Given the description of an element on the screen output the (x, y) to click on. 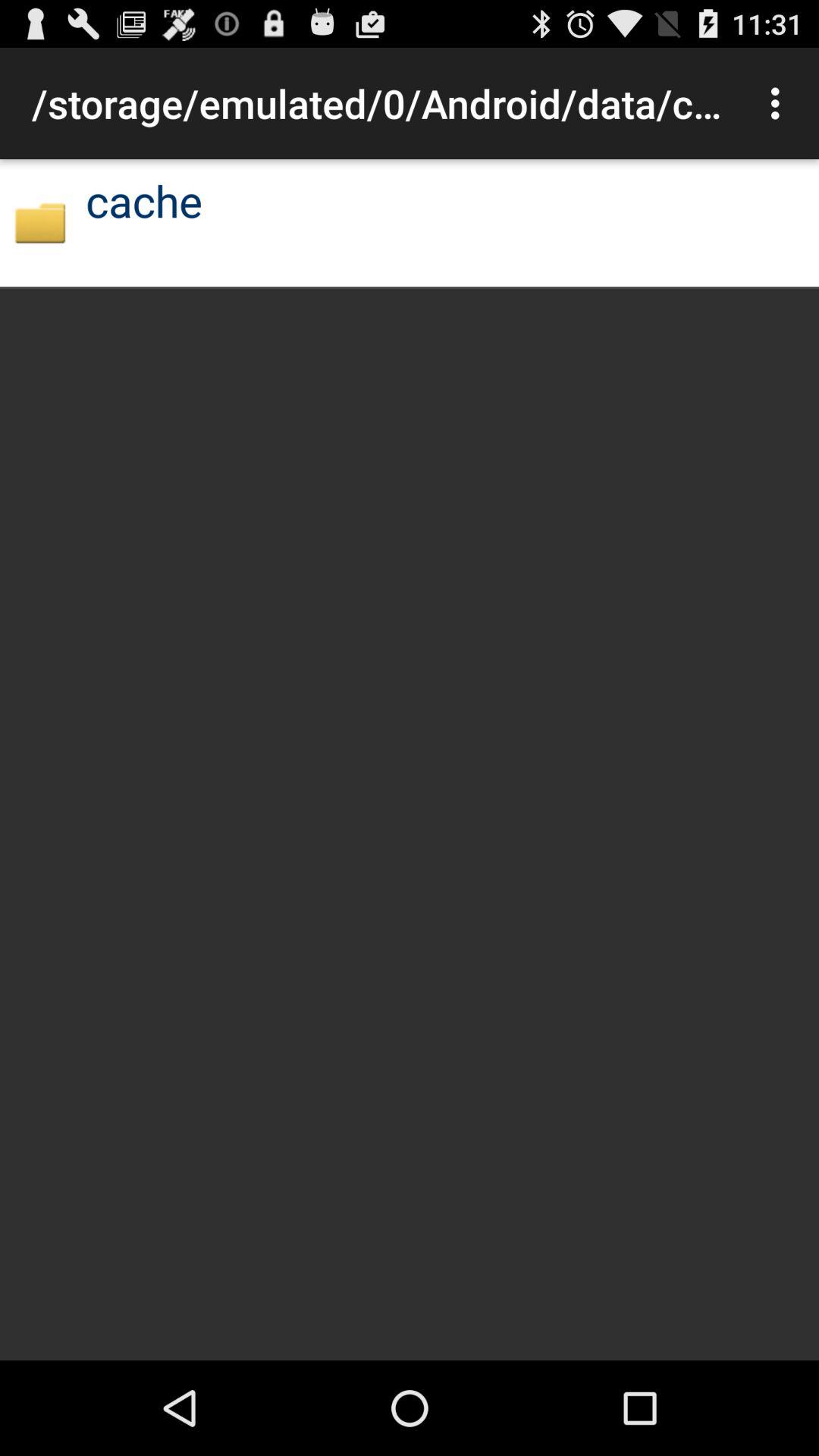
turn on the app next to the storage emulated 0 item (779, 103)
